Given the description of an element on the screen output the (x, y) to click on. 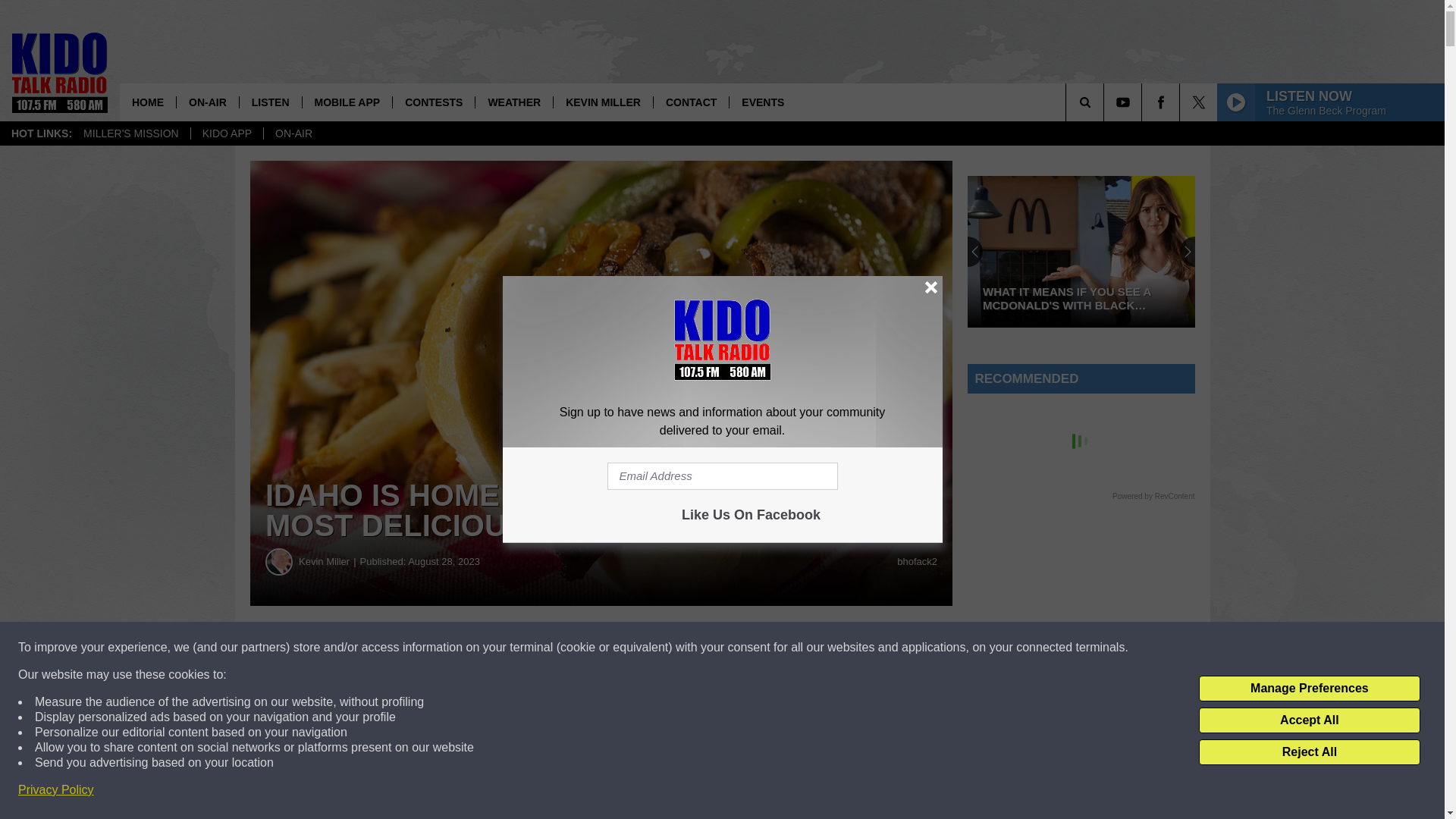
Share on Twitter (741, 647)
Accept All (1309, 720)
ON-AIR (207, 102)
Share on Facebook (460, 647)
Email Address (722, 475)
MOBILE APP (347, 102)
HOME (147, 102)
CONTESTS (432, 102)
Manage Preferences (1309, 688)
LISTEN (269, 102)
Reject All (1309, 751)
SEARCH (1106, 102)
Privacy Policy (55, 789)
KEVIN MILLER (602, 102)
SEARCH (1106, 102)
